Given the description of an element on the screen output the (x, y) to click on. 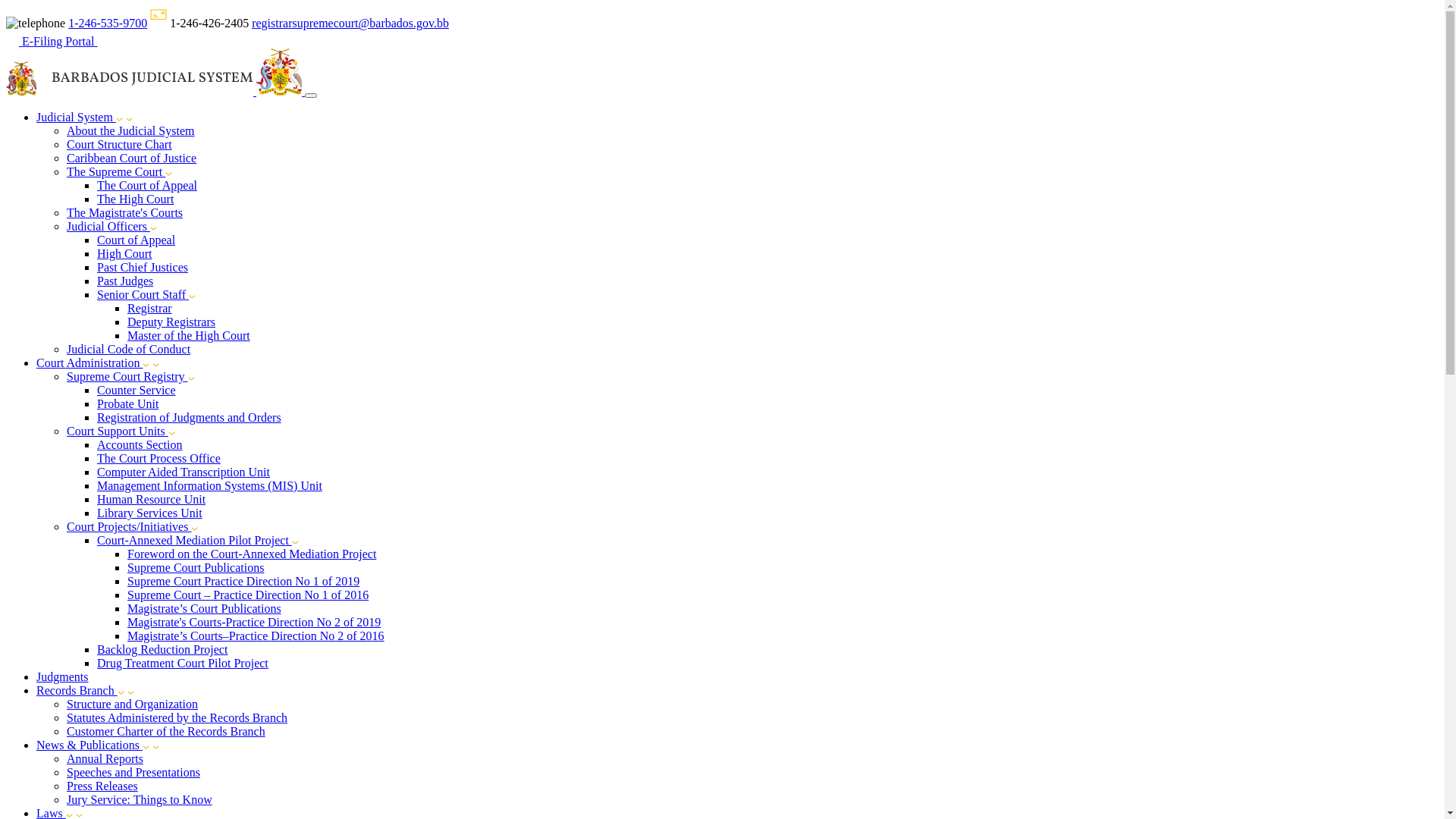
Supreme Court Publications Element type: text (195, 567)
Master of the High Court Element type: text (188, 335)
Supreme Court Registry Element type: text (127, 376)
Registration of Judgments and Orders Element type: text (189, 417)
Press Releases Element type: text (102, 785)
E-Filing Portal Element type: text (59, 40)
Caribbean Court of Justice Element type: text (131, 157)
News & Publications Element type: text (92, 744)
Senior Court Staff Element type: text (142, 294)
The Court of Appeal Element type: text (147, 184)
The Supreme Court Element type: text (115, 171)
Past Chief Justices Element type: text (142, 266)
Annual Reports Element type: text (104, 758)
Judicial Officers Element type: text (108, 225)
Computer Aided Transcription Unit Element type: text (183, 471)
The Court Process Office Element type: text (158, 457)
Court Administration Element type: text (92, 362)
1-246-535-9700 Element type: text (107, 22)
Magistrate's Courts-Practice Direction No 2 of 2019 Element type: text (253, 621)
Records Branch Element type: text (80, 690)
Court-Annexed Mediation Pilot Project Element type: text (194, 539)
Structure and Organization Element type: text (131, 703)
The High Court Element type: text (135, 198)
About the Judicial System Element type: text (130, 130)
Past Judges Element type: text (125, 280)
Human Resource Unit Element type: text (151, 498)
Customer Charter of the Records Branch Element type: text (165, 730)
Deputy Registrars Element type: text (171, 321)
Management Information Systems (MIS) Unit Element type: text (209, 485)
Drug Treatment Court Pilot Project Element type: text (182, 662)
Counter Service Element type: text (136, 389)
Accounts Section Element type: text (139, 444)
Court of Appeal Element type: text (136, 239)
Statutes Administered by the Records Branch Element type: text (176, 717)
Judicial System Element type: text (79, 116)
Court Structure Chart Element type: text (119, 144)
Probate Unit Element type: text (127, 403)
Court Projects/Initiatives Element type: text (128, 526)
Registrar Element type: text (149, 307)
Backlog Reduction Project Element type: text (162, 649)
Foreword on the Court-Annexed Mediation Project Element type: text (251, 553)
The Magistrate's Courts Element type: text (124, 212)
Supreme Court Practice Direction No 1 of 2019 Element type: text (243, 580)
Library Services Unit Element type: text (149, 512)
Jury Service: Things to Know Element type: text (139, 799)
Judicial Code of Conduct Element type: text (128, 348)
Speeches and Presentations Element type: text (133, 771)
High Court Element type: text (124, 253)
Court Support Units Element type: text (117, 430)
Judgments Element type: text (61, 676)
registrarsupremecourt@barbados.gov.bb Element type: text (349, 22)
